Given the description of an element on the screen output the (x, y) to click on. 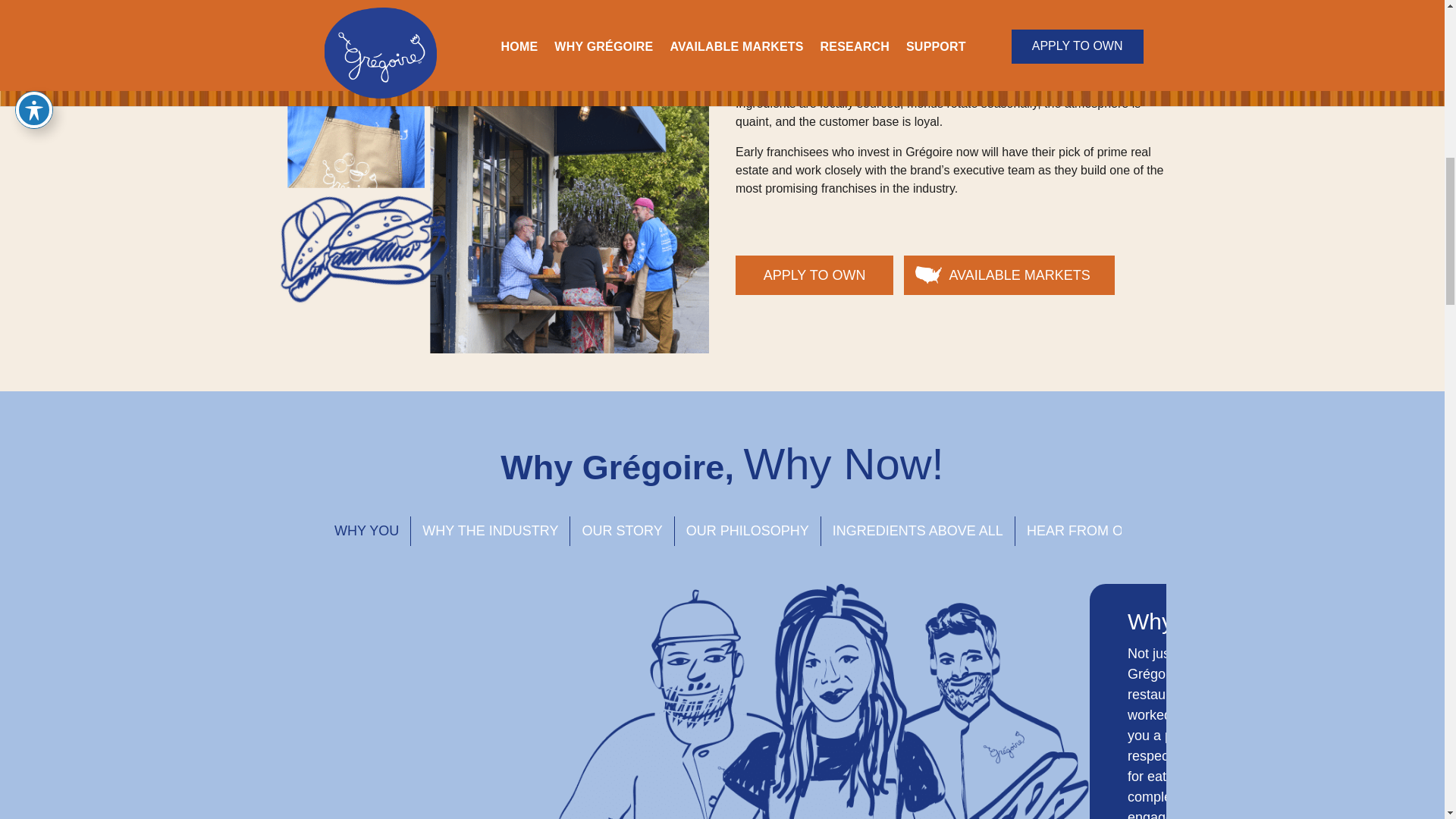
APPLY TO OWN (814, 274)
Why-You (823, 701)
AVAILABLE MARKETS (1009, 274)
